Given the description of an element on the screen output the (x, y) to click on. 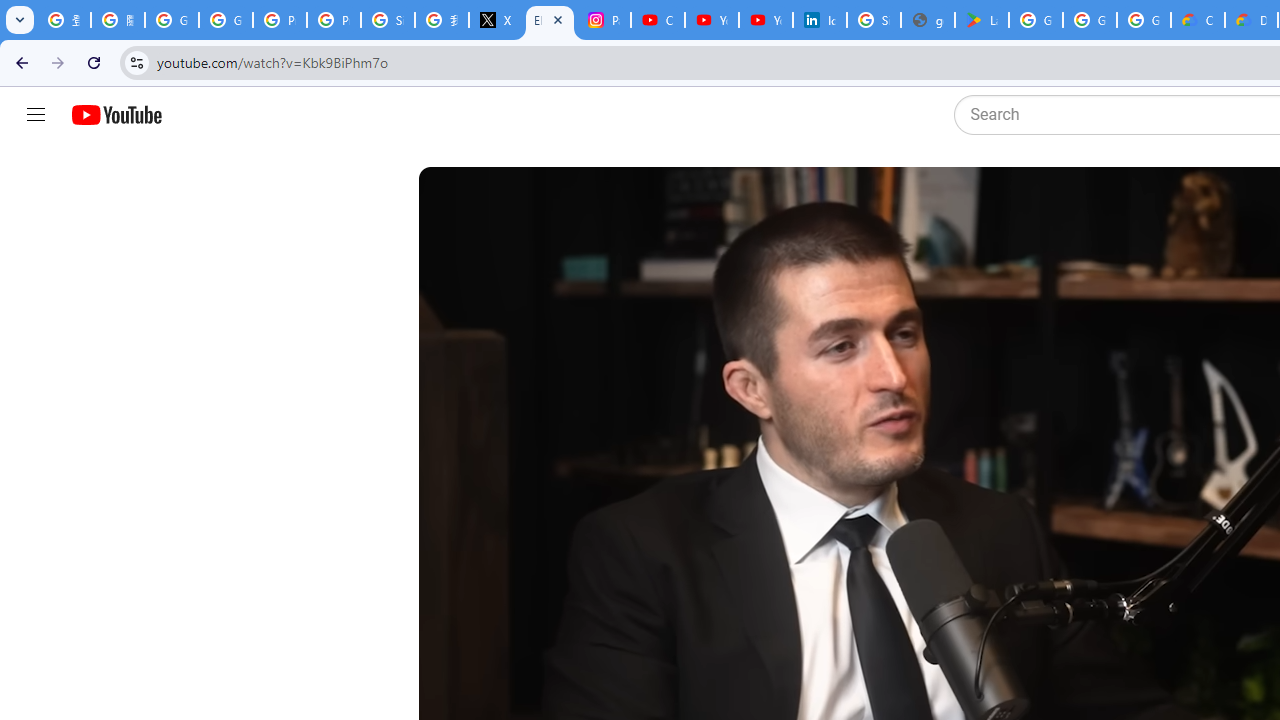
Google Workspace - Specific Terms (1089, 20)
